Given the description of an element on the screen output the (x, y) to click on. 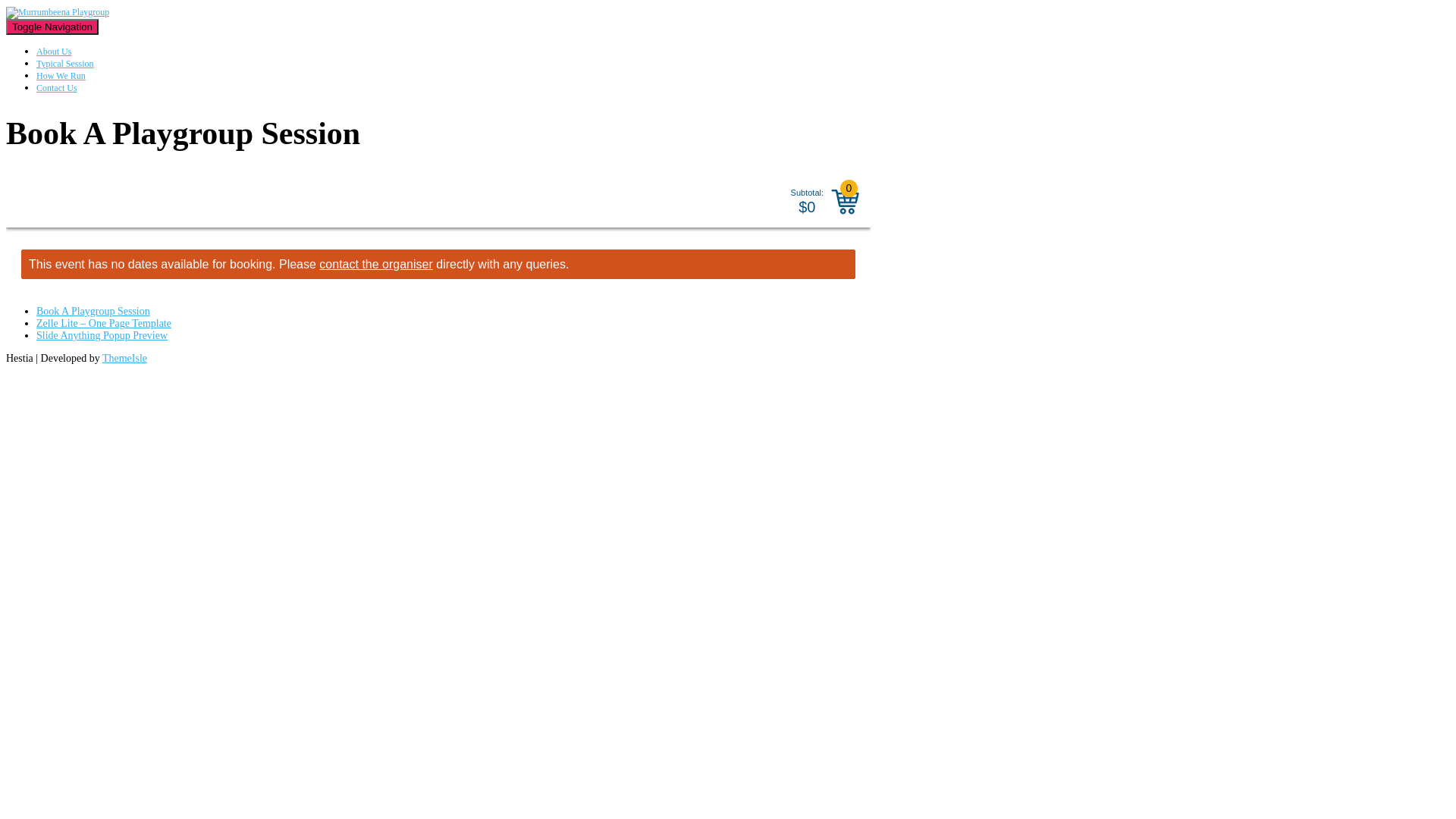
Murrumbeena Playgroup Element type: hover (57, 11)
About Us Element type: text (53, 51)
Toggle Navigation Element type: text (52, 26)
Book A Playgroup Session Element type: text (93, 310)
Typical Session Element type: text (65, 63)
ThemeIsle Element type: text (124, 358)
Slide Anything Popup Preview Element type: text (101, 335)
Contact Us Element type: text (56, 87)
How We Run Element type: text (60, 75)
